Given the description of an element on the screen output the (x, y) to click on. 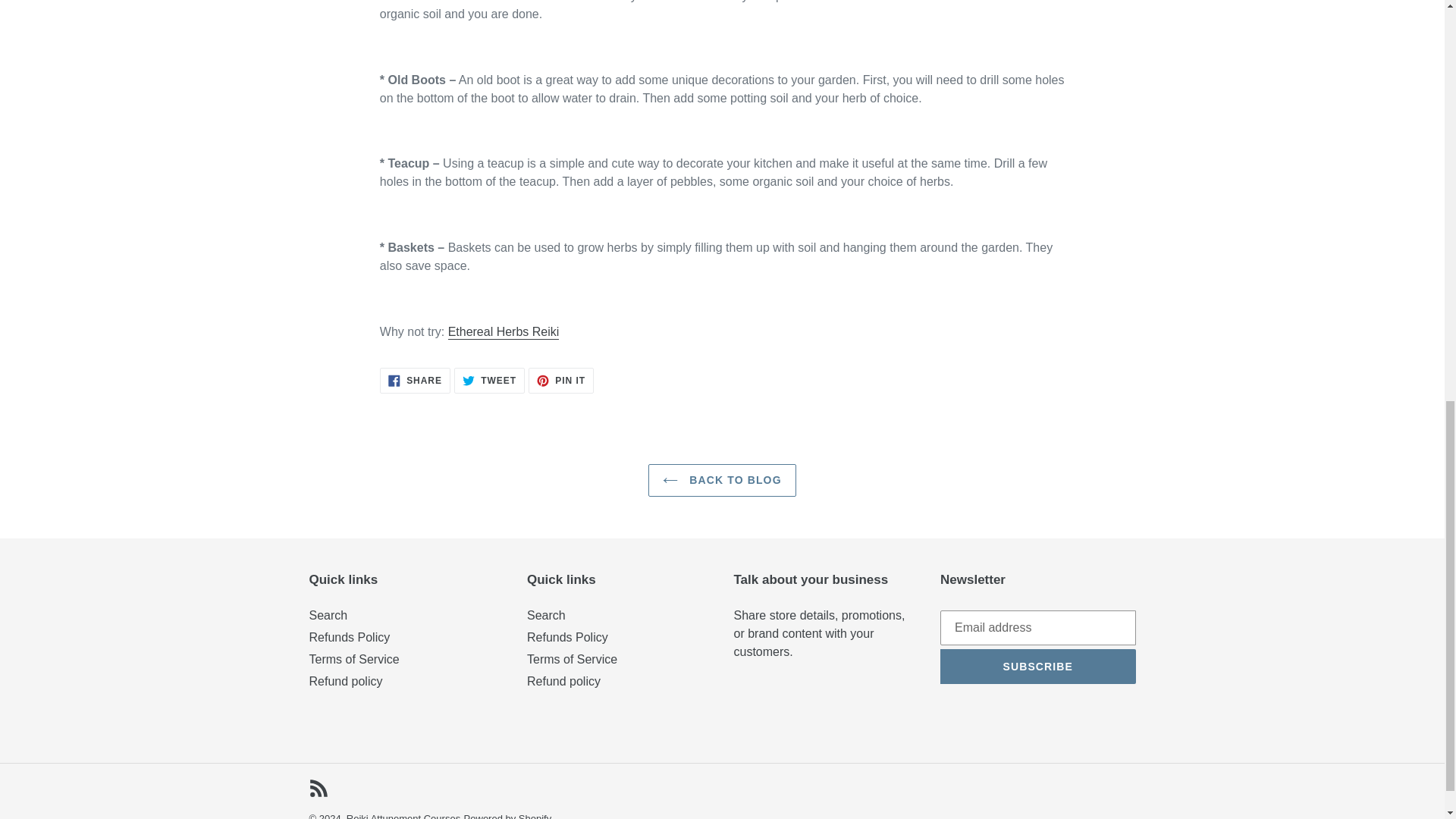
Ethereal herbs reiki (503, 332)
